Given the description of an element on the screen output the (x, y) to click on. 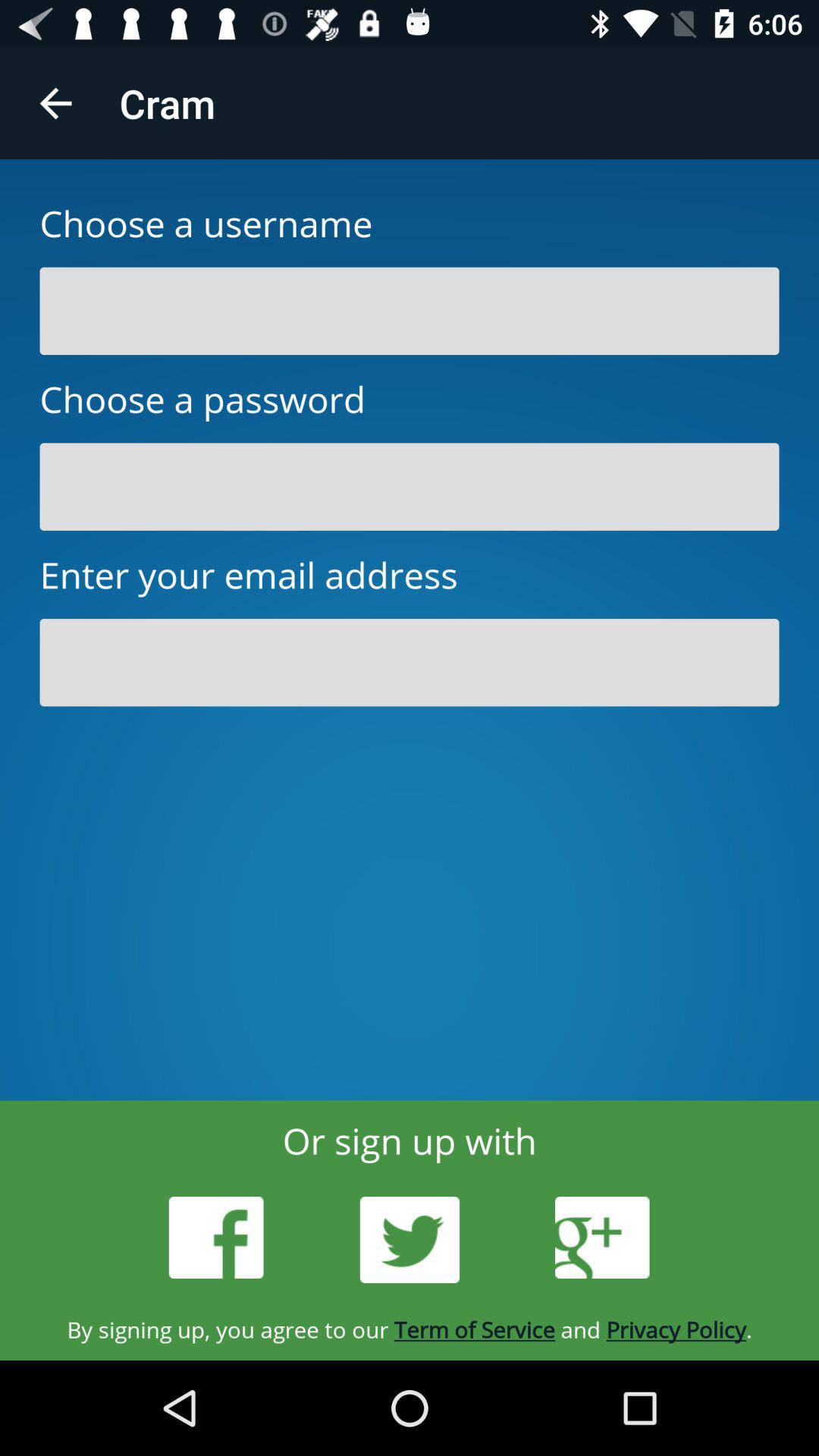
password field (409, 486)
